Given the description of an element on the screen output the (x, y) to click on. 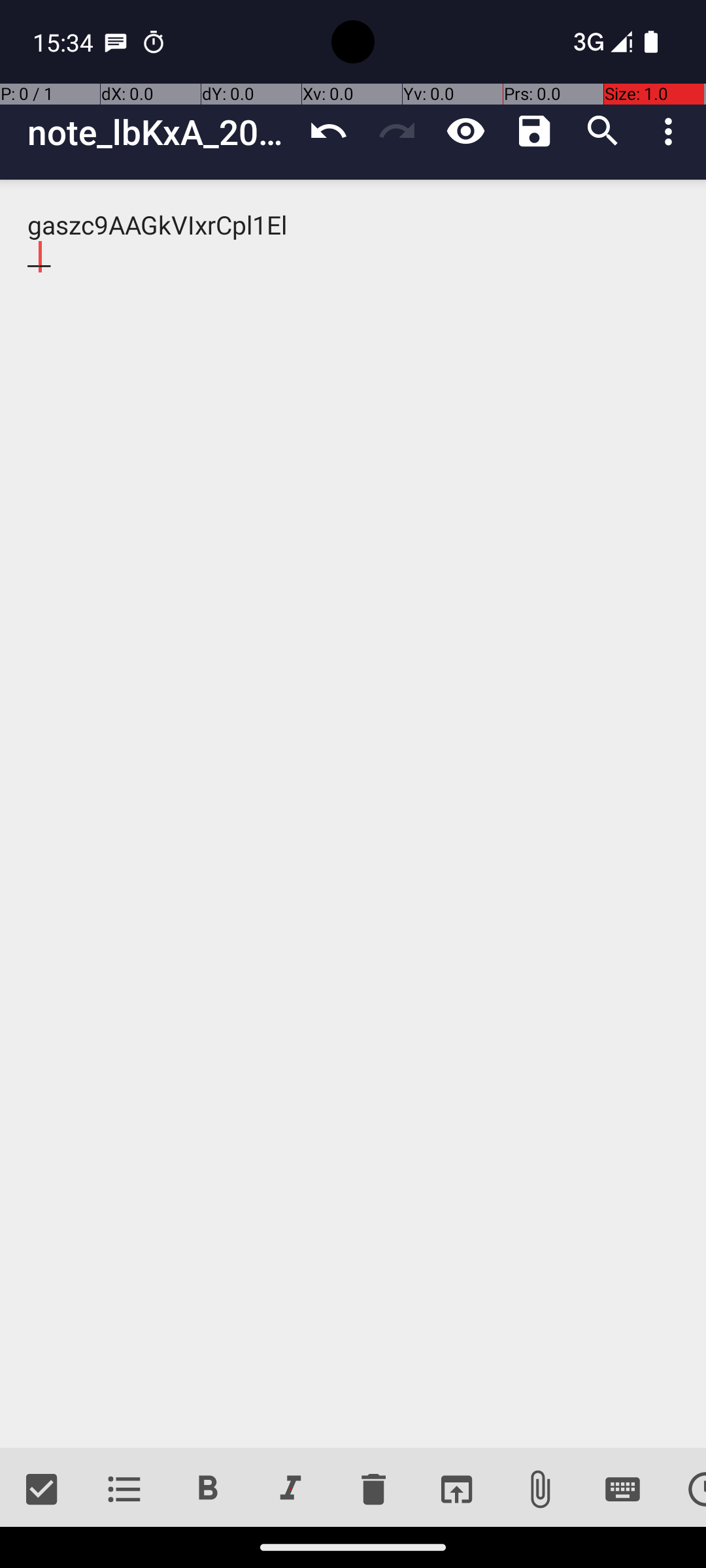
note_lbKxA_2023_01_09 Element type: android.widget.TextView (160, 131)
gaszc9AAGkVIxrCpl1El
__ Element type: android.widget.EditText (353, 813)
